Given the description of an element on the screen output the (x, y) to click on. 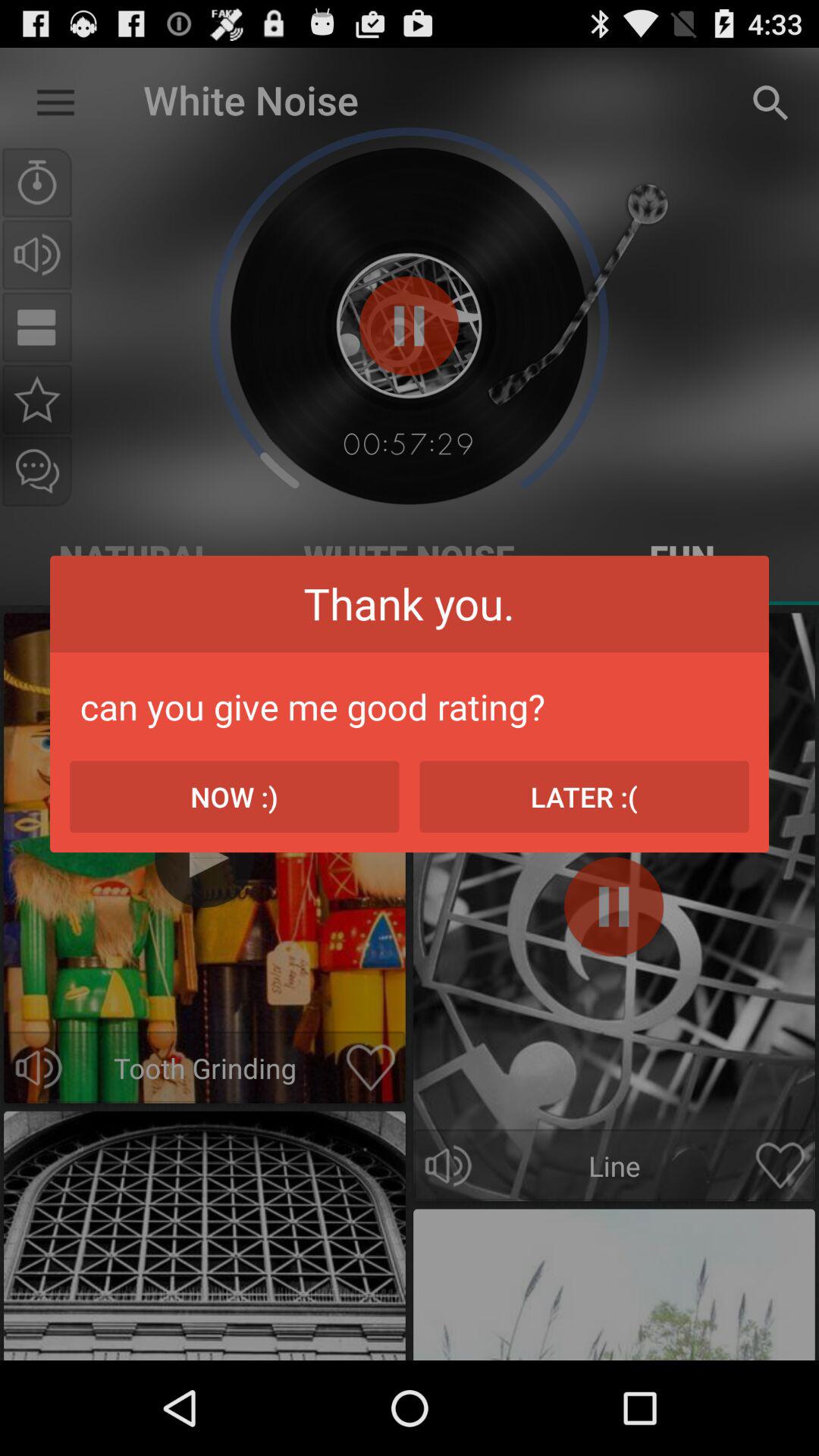
turn off the icon to the left of the later :( (234, 796)
